Given the description of an element on the screen output the (x, y) to click on. 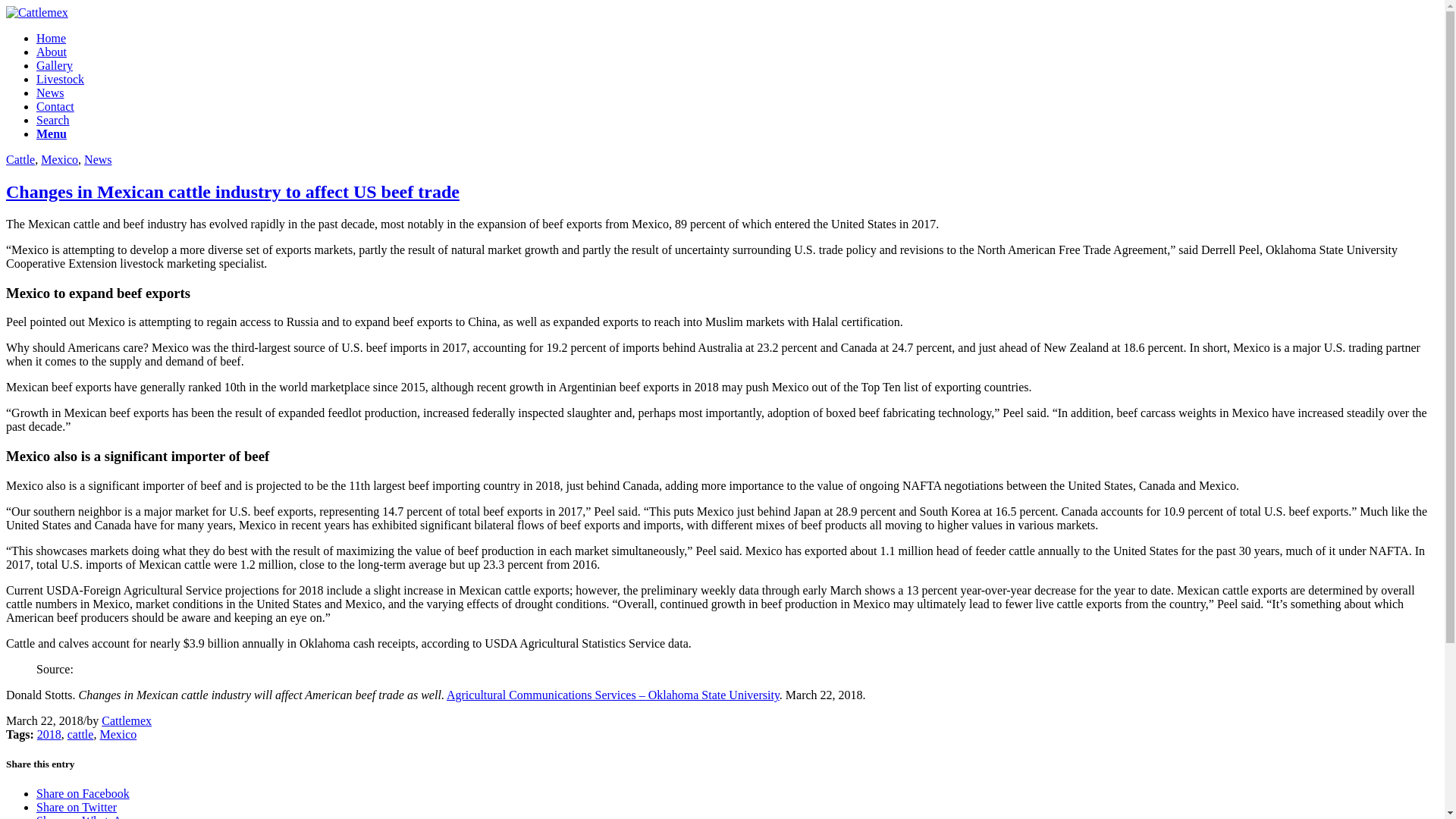
Contact (55, 106)
Cattle (19, 159)
News (98, 159)
Share on WhatsApp (84, 816)
Mexico (59, 159)
Home (50, 38)
News (50, 92)
cattle (80, 734)
Cattlemex (126, 720)
Menu (51, 133)
